Given the description of an element on the screen output the (x, y) to click on. 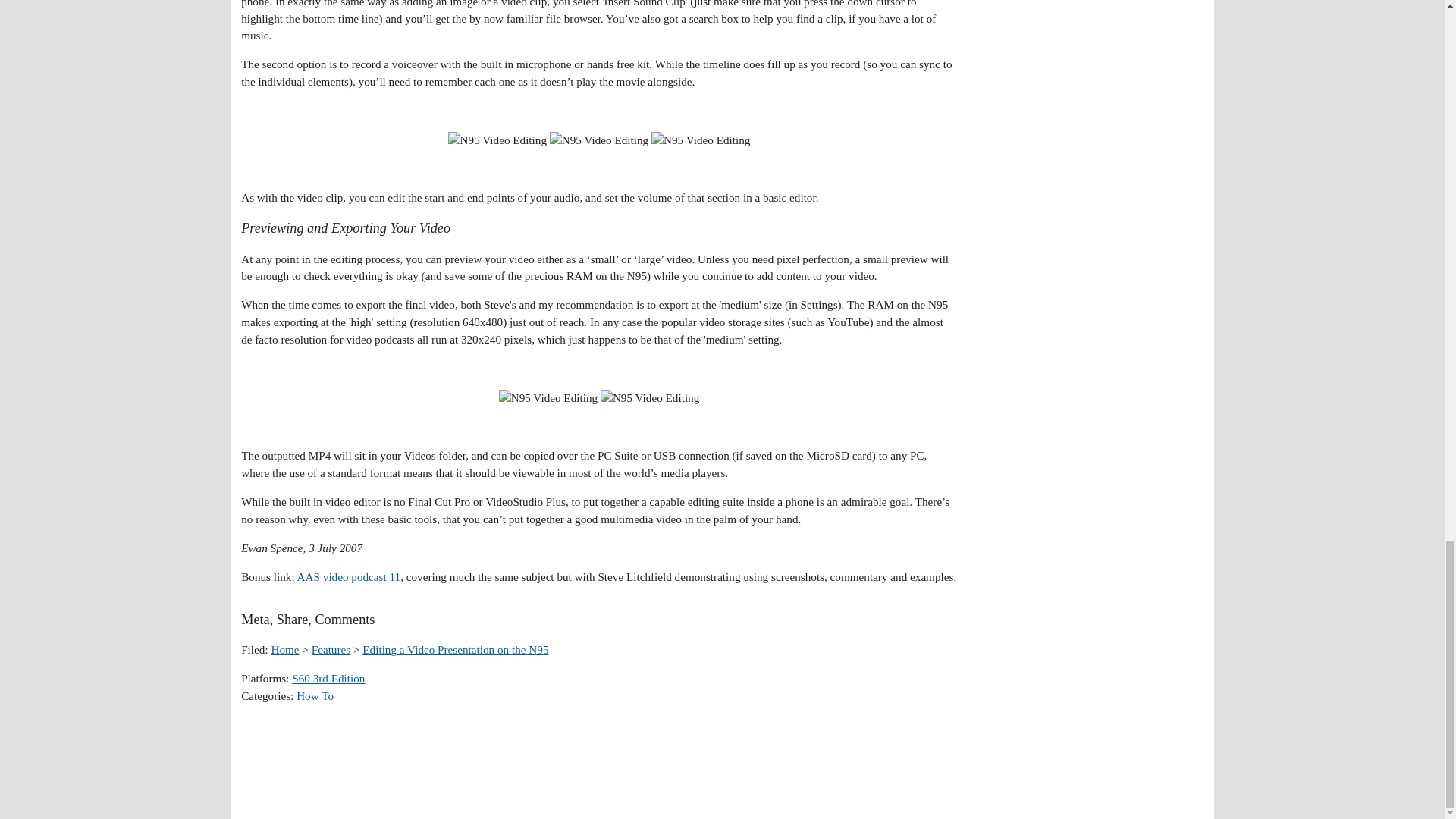
Features (330, 649)
AAS video podcast 11 (349, 576)
How To (315, 695)
S60 3rd Edition (328, 677)
Home (284, 649)
Editing a Video Presentation on the N95 (455, 649)
